Given the description of an element on the screen output the (x, y) to click on. 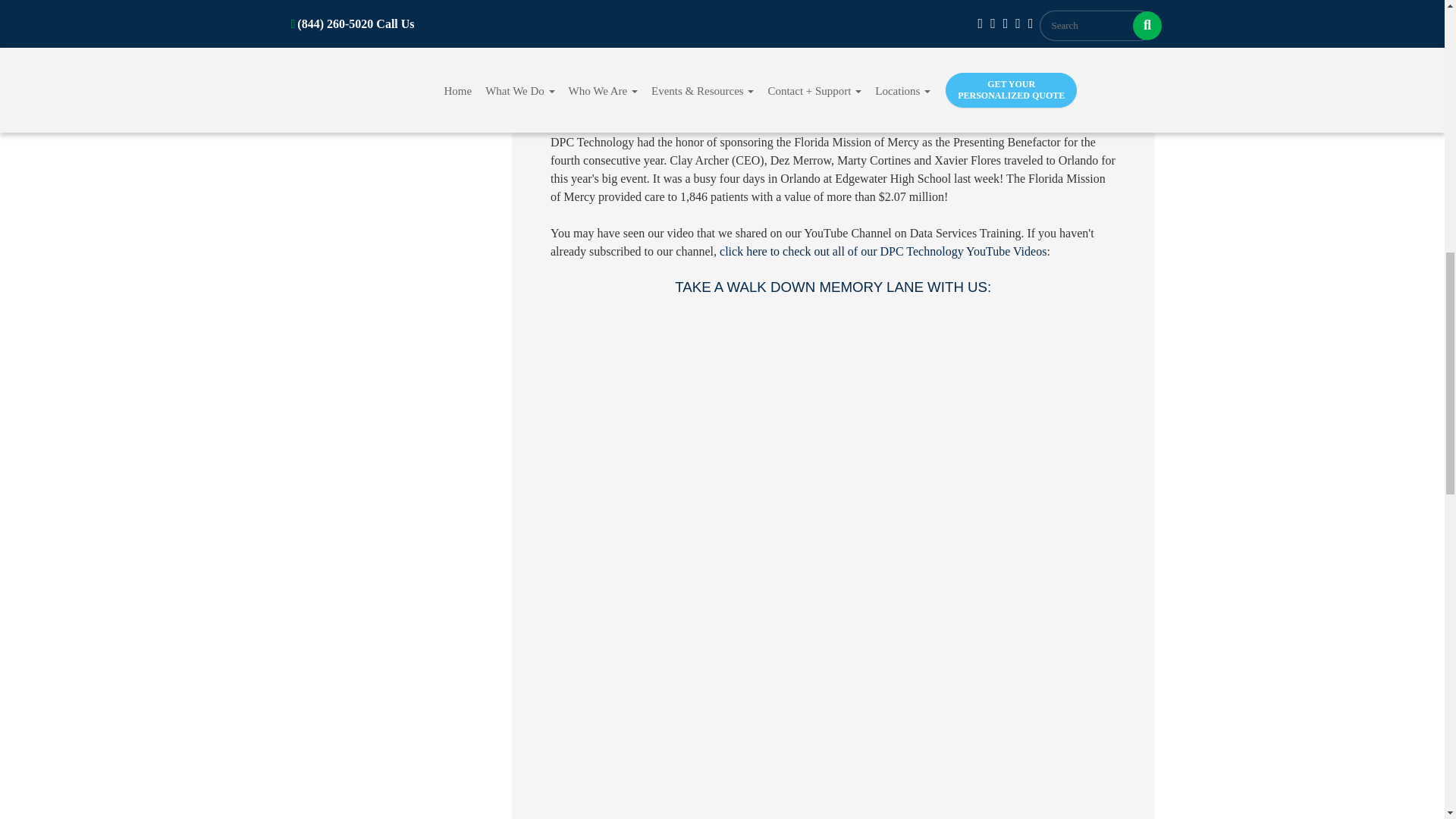
img-05 (715, 799)
img-06 (1047, 799)
